Given the description of an element on the screen output the (x, y) to click on. 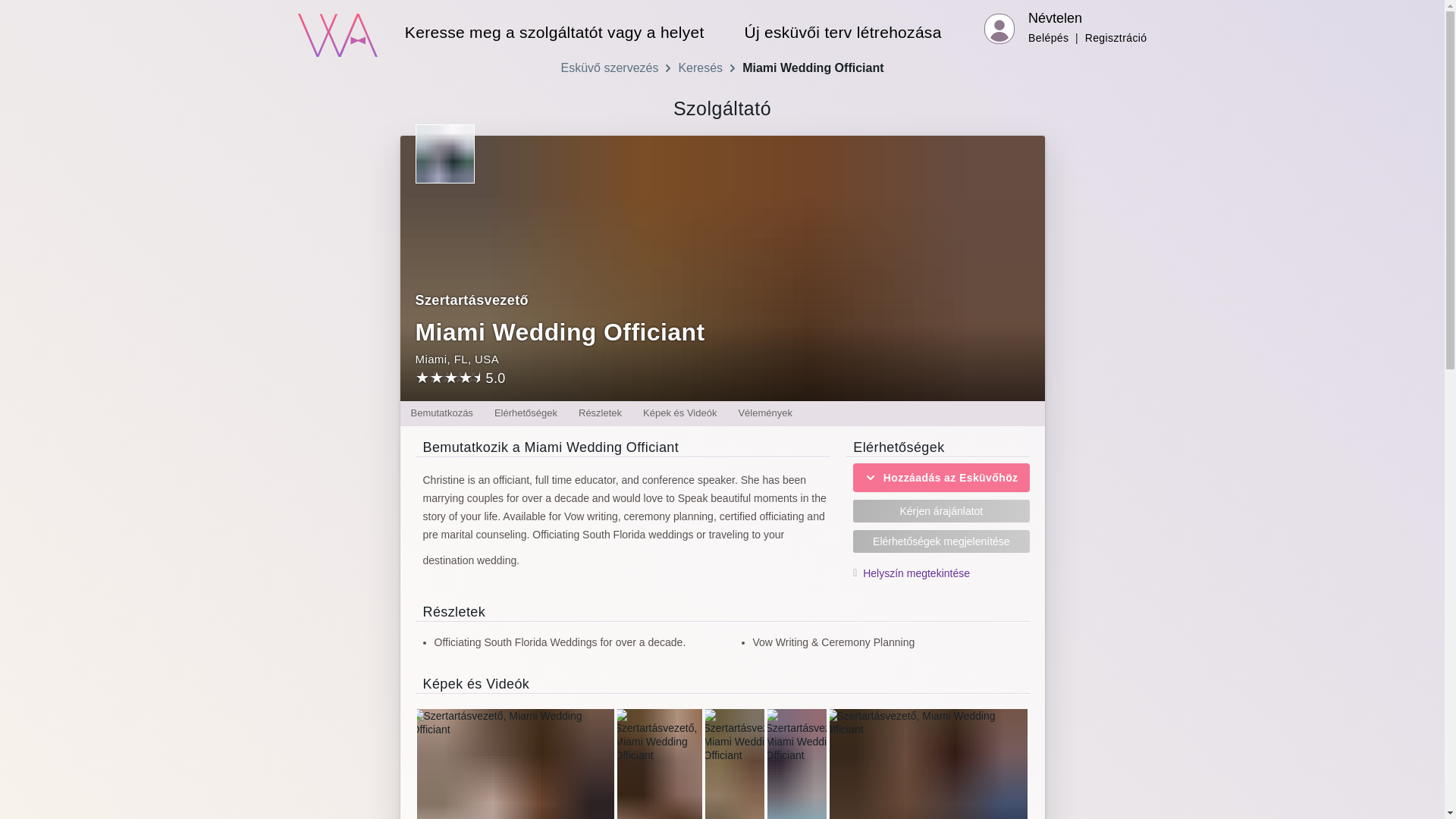
Miami Wedding Officiant (812, 68)
